Given the description of an element on the screen output the (x, y) to click on. 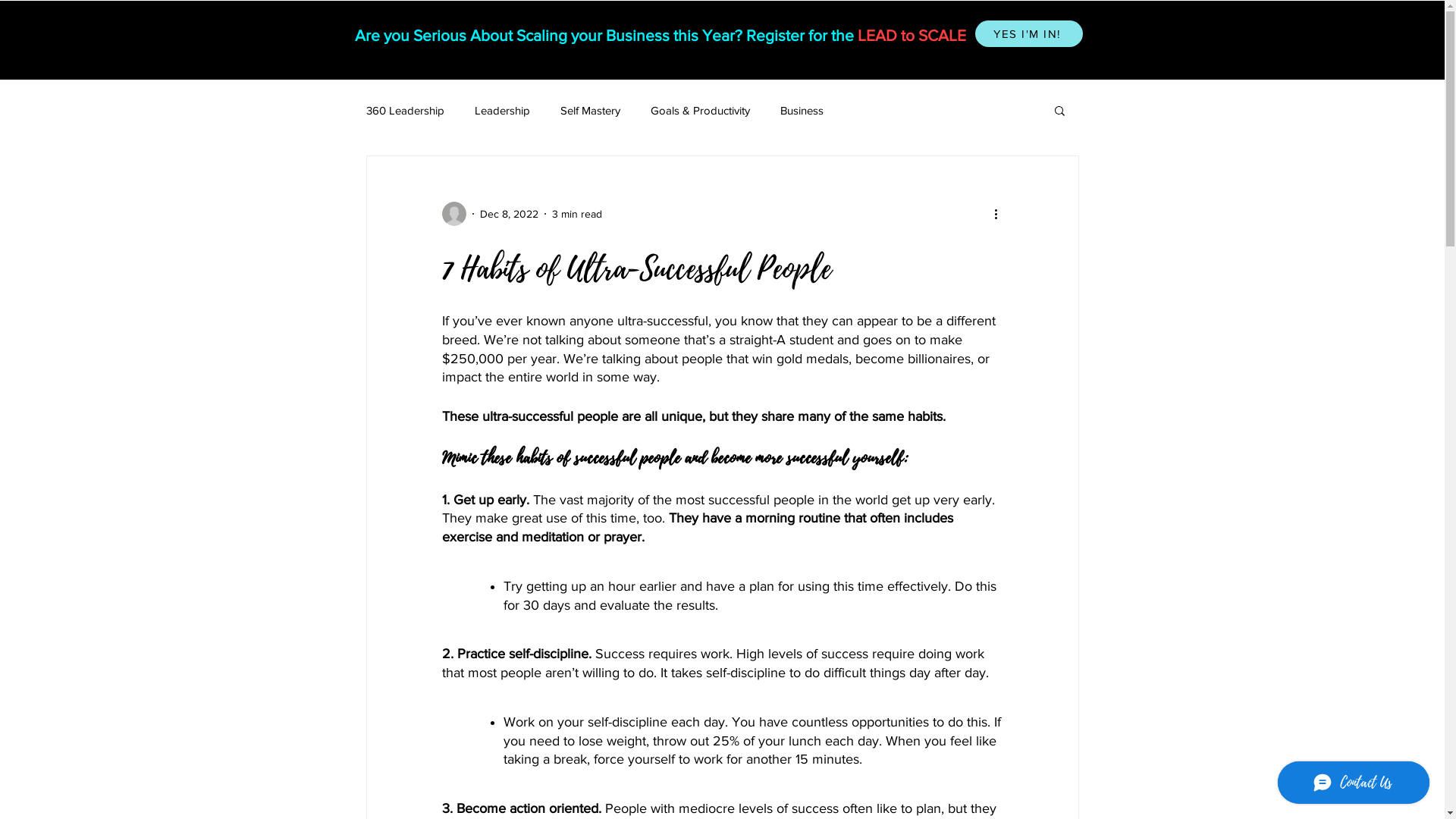
Goals & Productivity Element type: text (699, 109)
360 Leadership Element type: text (404, 109)
Self Mastery Element type: text (589, 109)
Business Element type: text (800, 109)
YES I'M IN! Element type: text (1028, 33)
Leadership Element type: text (502, 109)
